Given the description of an element on the screen output the (x, y) to click on. 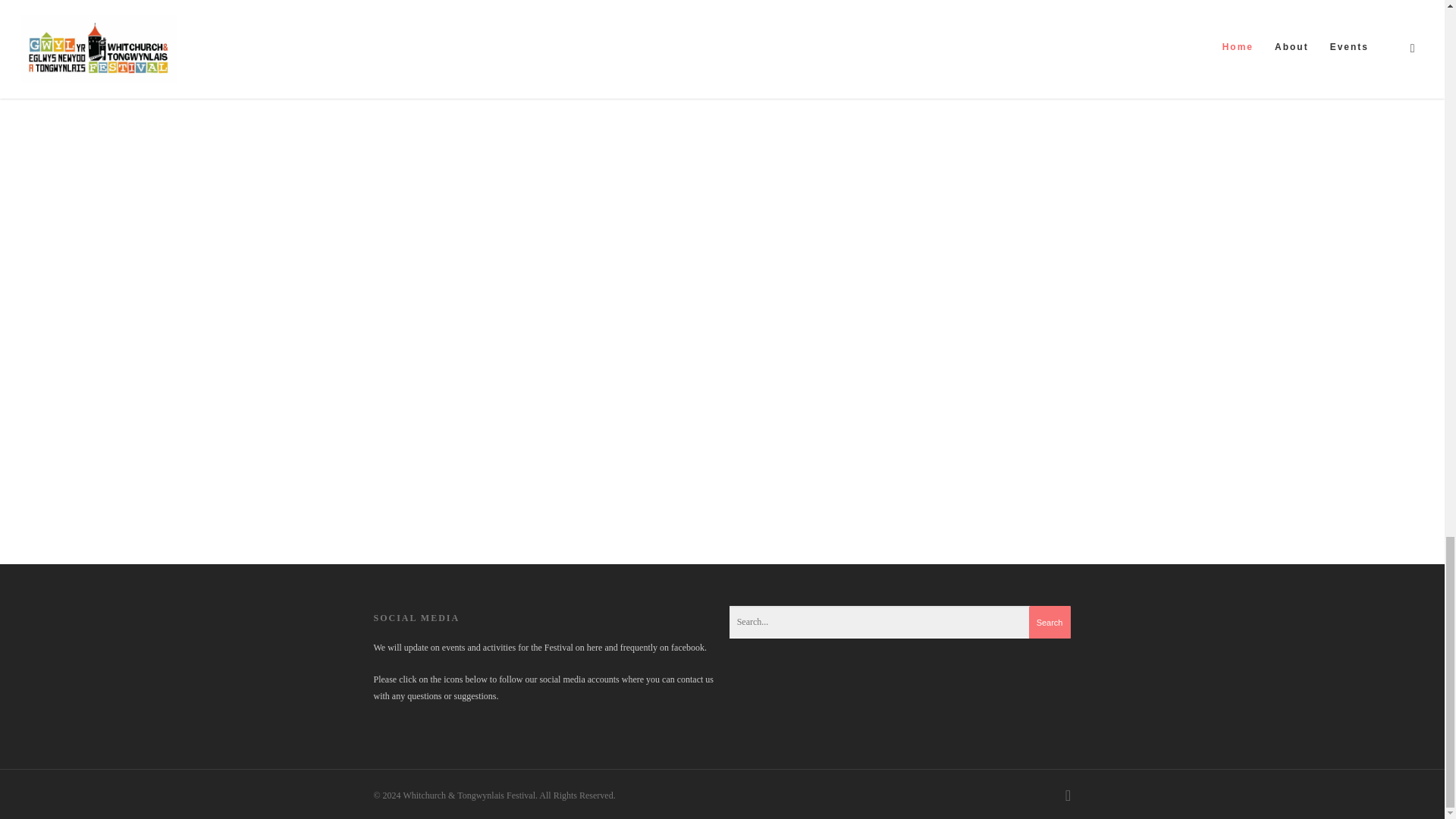
Search (1050, 622)
Search for: (900, 622)
Search (1050, 622)
Search (1050, 622)
